Given the description of an element on the screen output the (x, y) to click on. 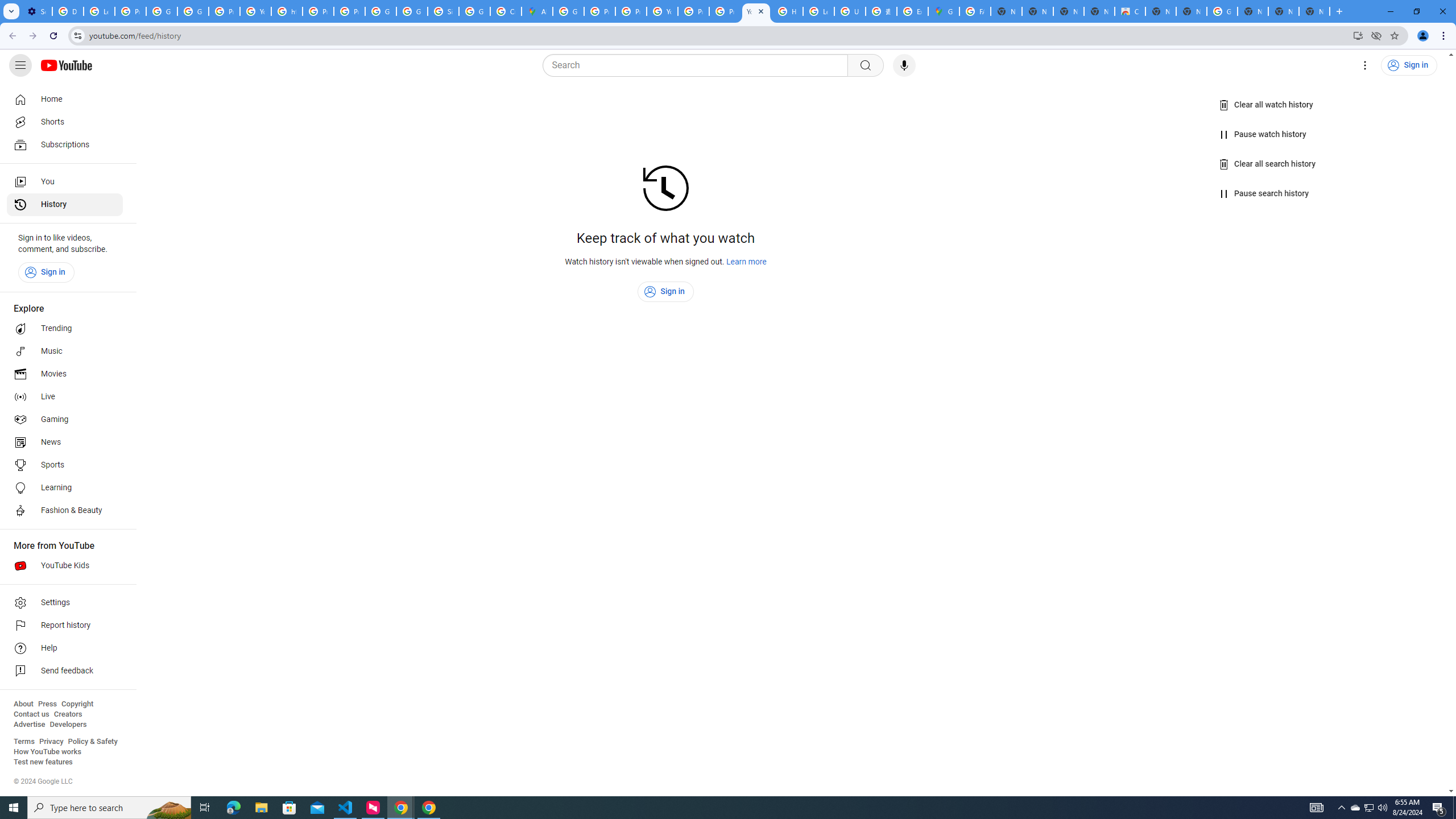
Clear all search history (1267, 163)
Create your Google Account (505, 11)
Subscriptions (64, 144)
Delete photos & videos - Computer - Google Photos Help (67, 11)
History (64, 204)
Privacy Help Center - Policies Help (631, 11)
Contact us (31, 714)
Policy & Safety (91, 741)
Search with your voice (903, 65)
New Tab (1190, 11)
